Given the description of an element on the screen output the (x, y) to click on. 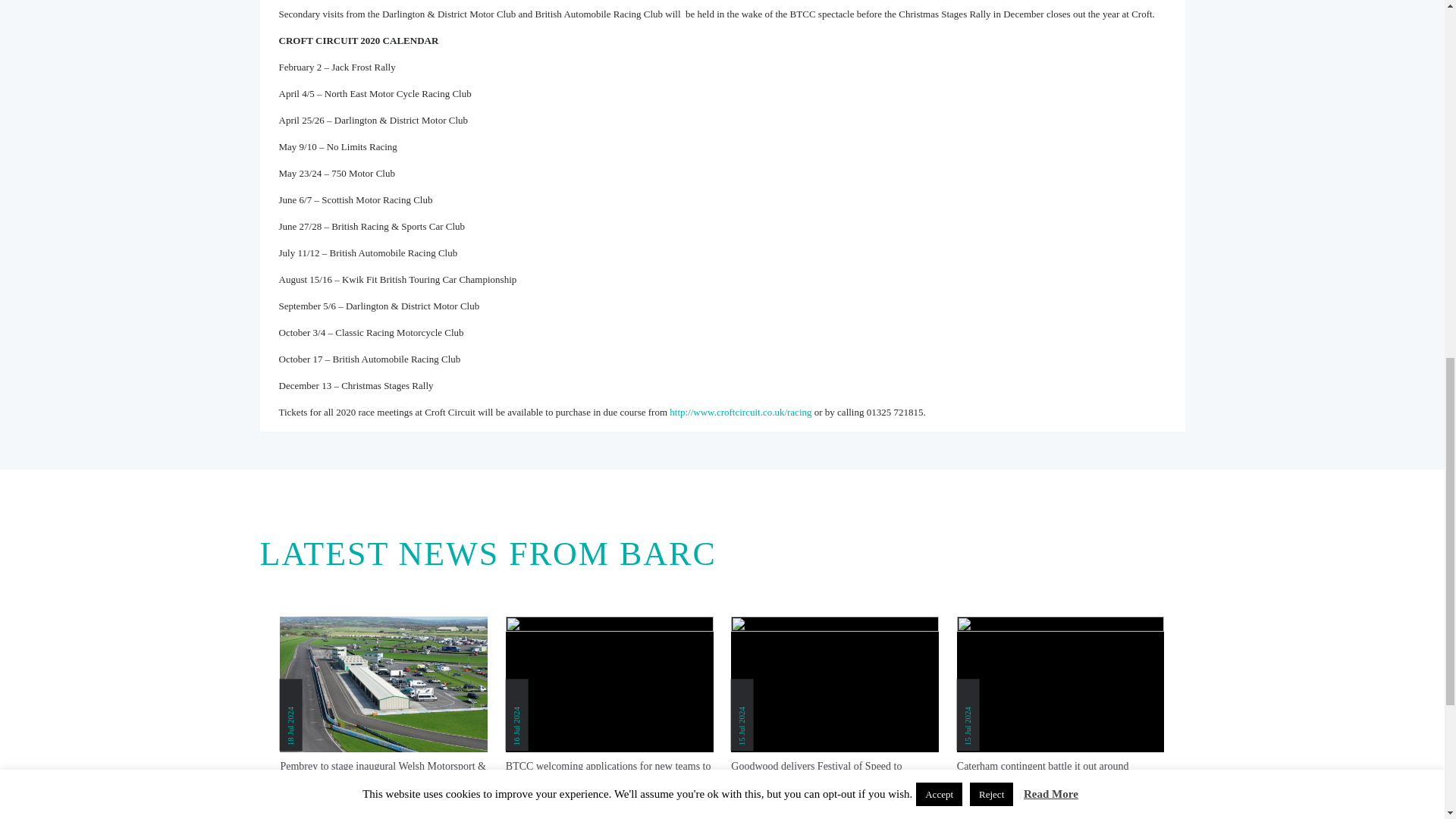
Caterham contingent battle it out around Cadwell Park (1060, 773)
Goodwood delivers Festival of Speed to remember (834, 773)
BTCC welcoming applications for new teams to join 2025 grid (609, 773)
VIEW MORE (721, 806)
